Given the description of an element on the screen output the (x, y) to click on. 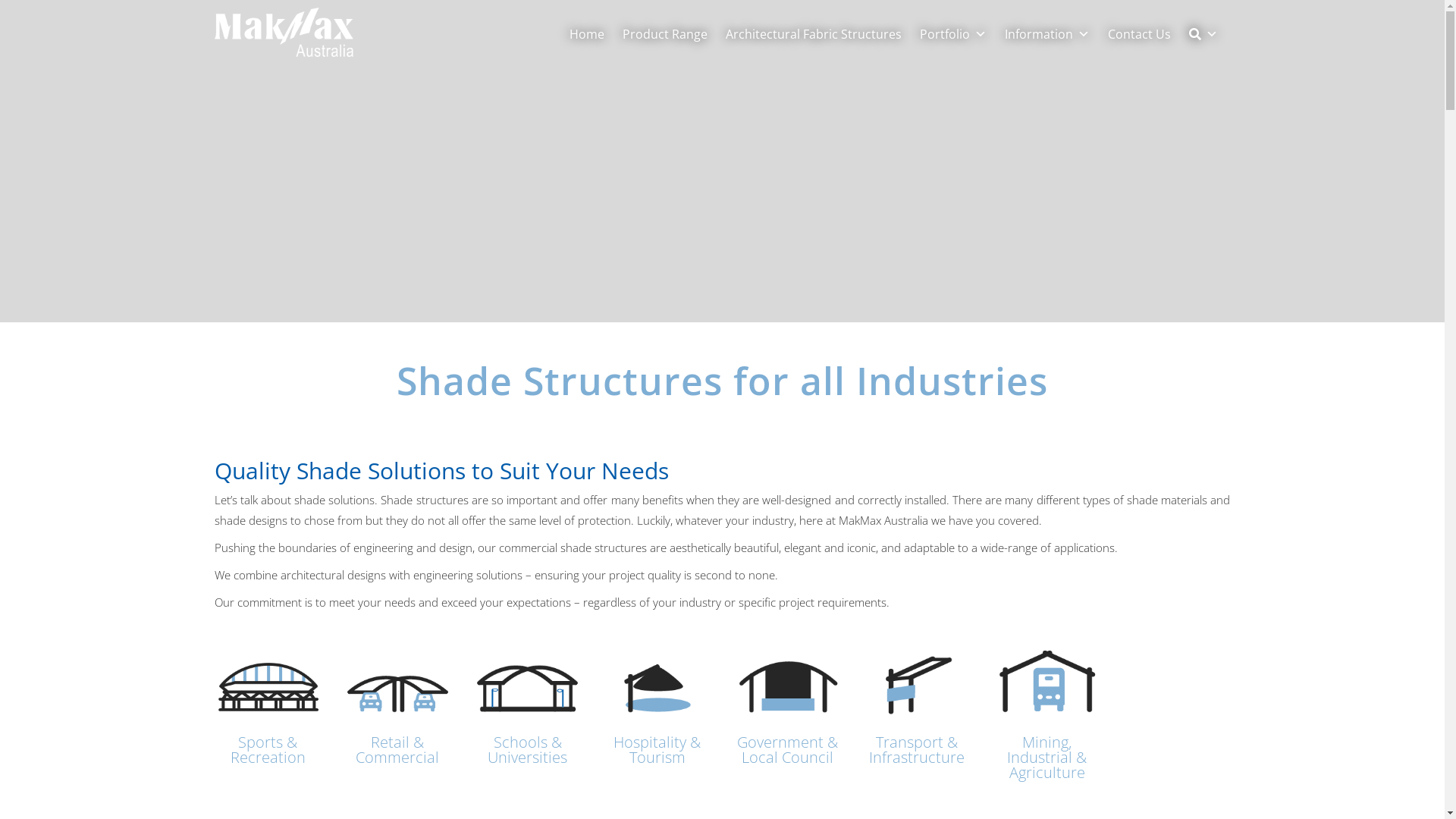
Hospitality+Tourism_200x150 Element type: hover (656, 687)
Contact Us Element type: text (1139, 33)
Transport & Infrastructure Element type: text (916, 749)
Government & Local Council Element type: text (787, 749)
Hospitality & Tourism Element type: text (656, 749)
Retail+Commercial_200x150 Element type: hover (397, 687)
Home Element type: text (586, 33)
Information Element type: text (1047, 33)
Mining, Industrial & Agriculture Element type: text (1046, 756)
Mining+Industrial_200x150 Element type: hover (1046, 687)
alt-Sports+Recreation_200x150 Element type: hover (526, 687)
Architectural Fabric Structures Element type: text (813, 33)
Portfolio Element type: text (952, 33)
Transport+Infrastructure_200x150 Element type: hover (916, 687)
Retail & Commercial Element type: text (397, 749)
Product Range Element type: text (664, 33)
Sports & Recreation Element type: text (267, 749)
Go! Element type: text (1069, 151)
Government+Council_200x150 Element type: hover (787, 687)
Schools & Universities Element type: text (527, 749)
Stadiums+Sports_200x150_Light-01 Element type: hover (266, 686)
